Given the description of an element on the screen output the (x, y) to click on. 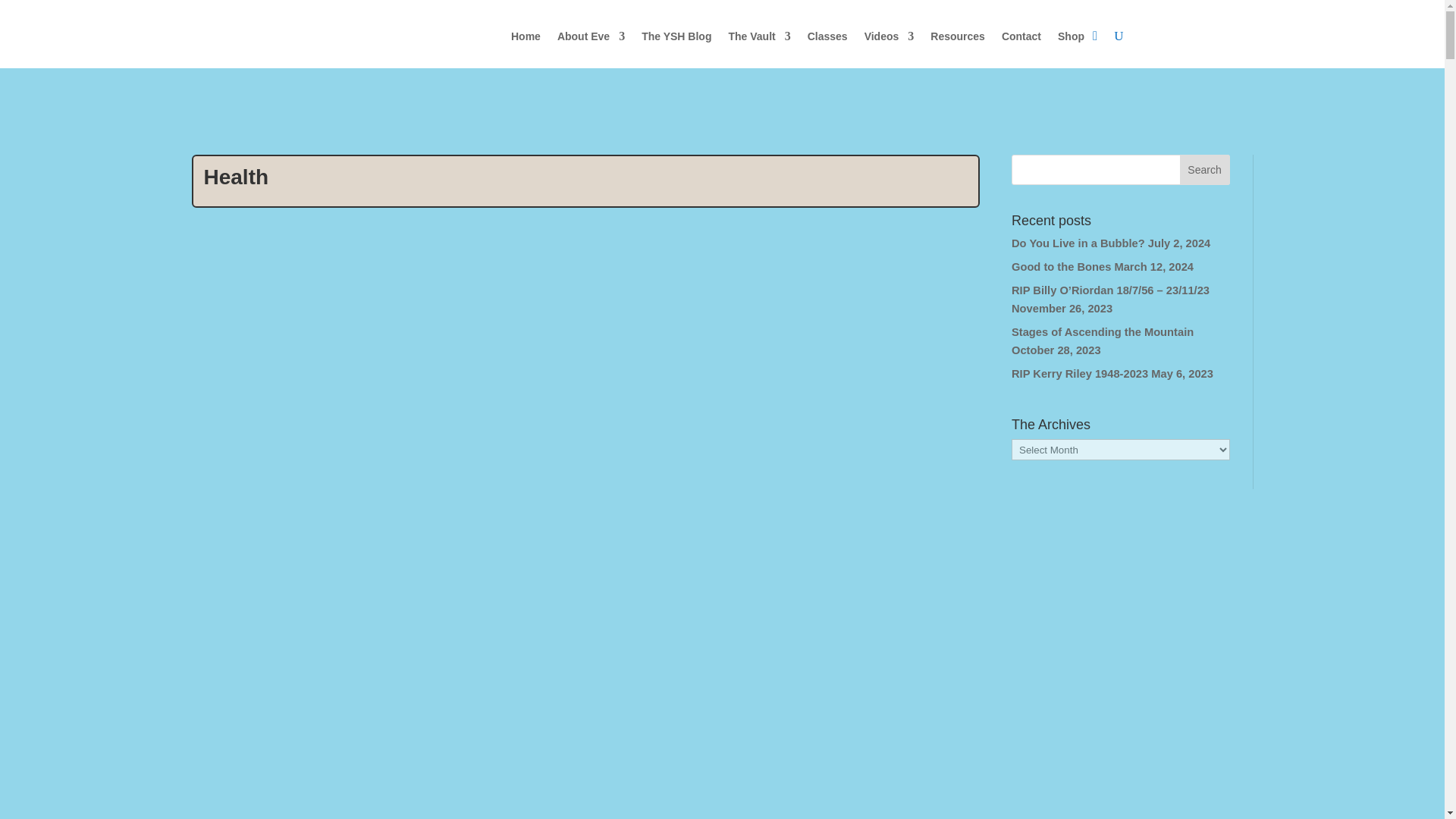
The YSH Blog (676, 36)
The Vault (759, 36)
Search (1204, 169)
About Eve (590, 36)
Resources (957, 36)
